Given the description of an element on the screen output the (x, y) to click on. 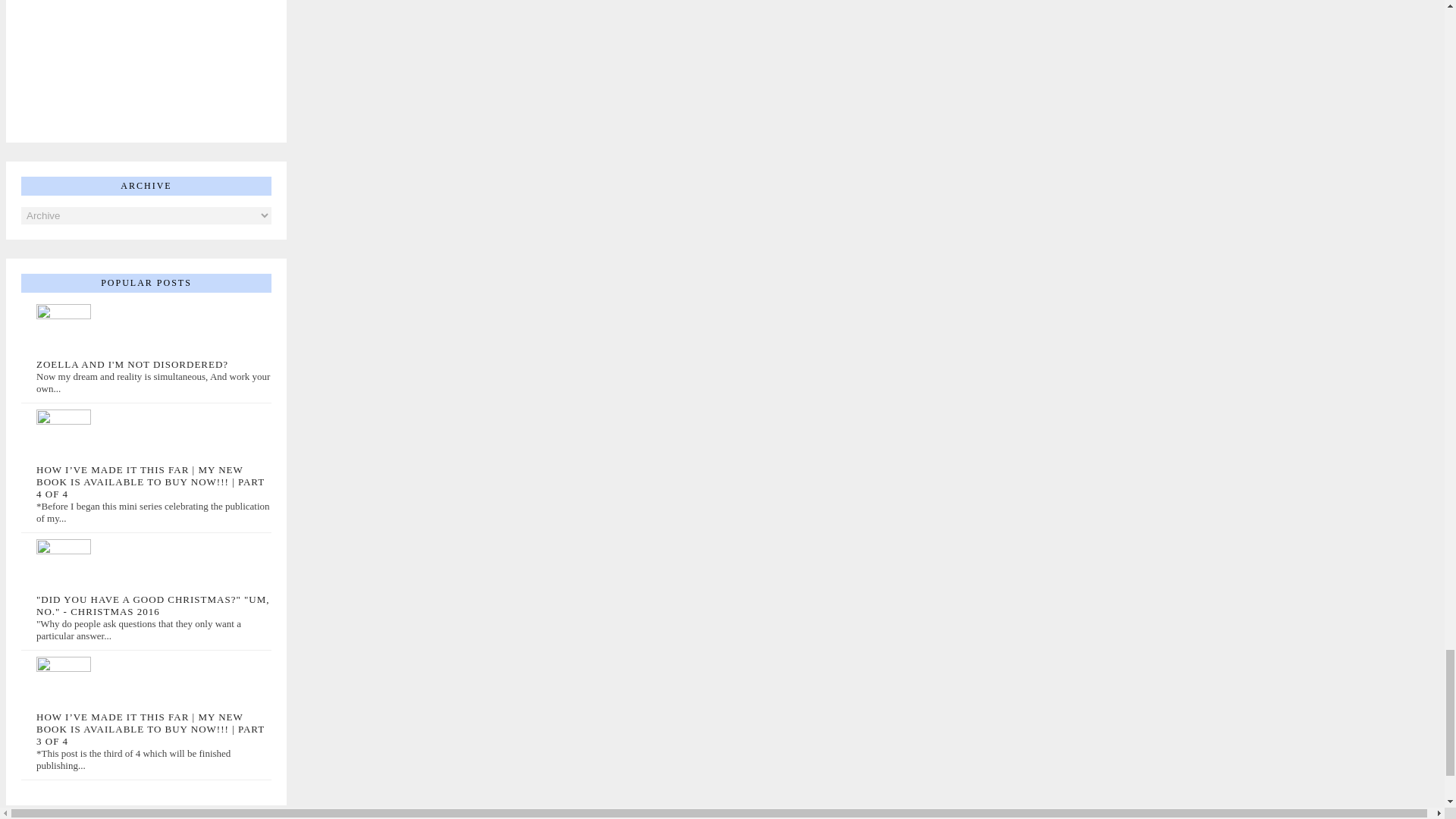
ZOELLA AND I'M NOT DISORDERED? (132, 364)
